Given the description of an element on the screen output the (x, y) to click on. 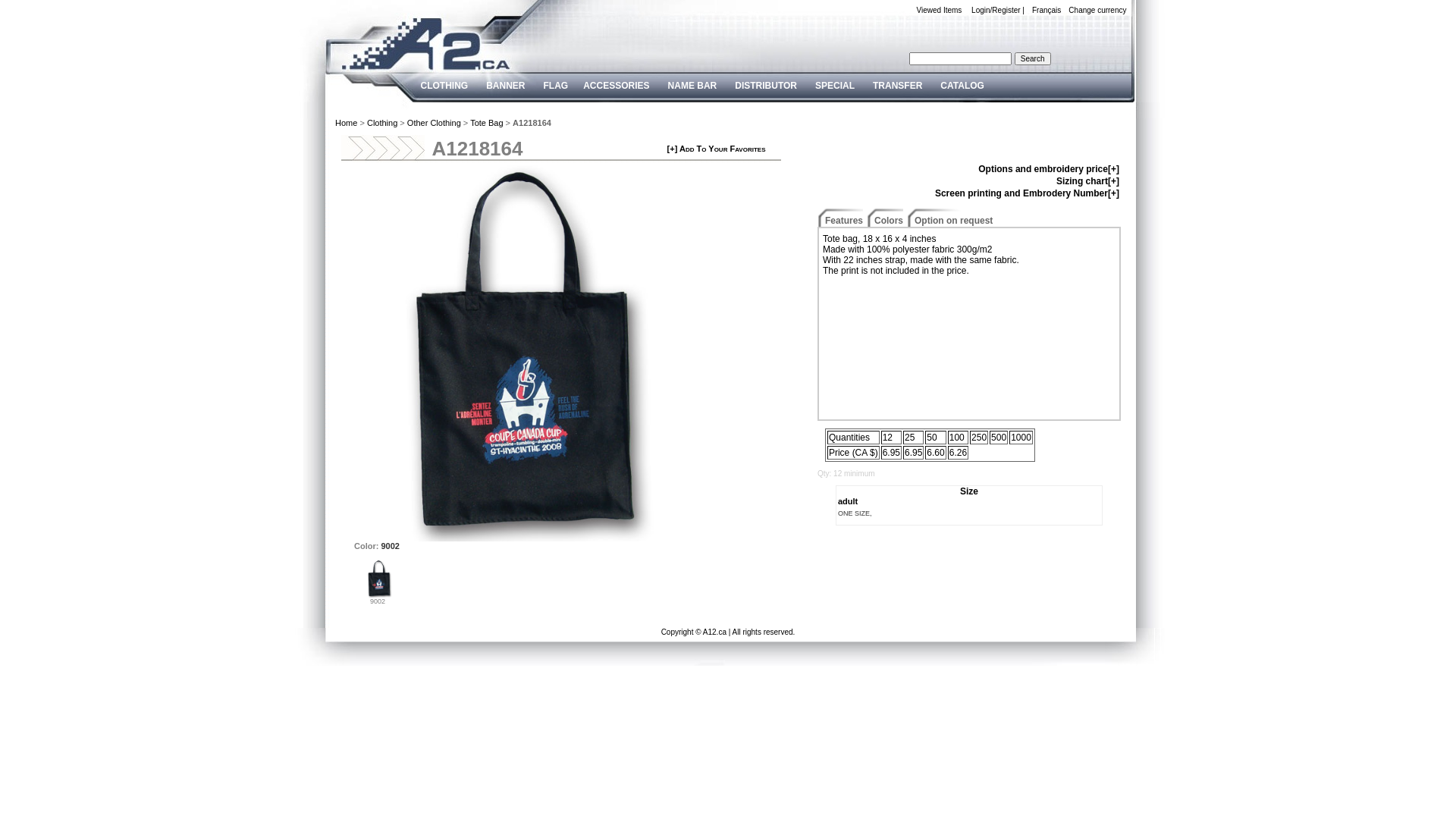
Tote Bag Element type: text (486, 122)
Other Clothing Element type: text (434, 122)
Home Element type: text (346, 122)
BANNER Element type: text (505, 85)
Clothing Element type: text (382, 122)
DISTRIBUTOR Element type: text (765, 85)
ACCESSORIES Element type: text (615, 85)
Change currency Element type: text (1093, 10)
Viewed Items Element type: text (934, 10)
NAME BAR Element type: text (692, 85)
Features Element type: text (843, 220)
[+] Add To Your Favorites Element type: text (716, 148)
A1218164_001.jpg Element type: hover (377, 578)
Sizing chart[+] Element type: text (1087, 180)
CATALOG Element type: text (961, 85)
TRANSFER Element type: text (897, 85)
Search Element type: text (1032, 58)
SPECIAL Element type: text (834, 85)
CLOTHING Element type: text (443, 85)
FLAG Element type: text (556, 85)
Login/Register Element type: text (991, 10)
Screen printing and Embrodery Number[+] Element type: text (1027, 193)
Option on request Element type: text (953, 220)
Options and embroidery price[+] Element type: text (1048, 168)
Colors Element type: text (888, 220)
